Given the description of an element on the screen output the (x, y) to click on. 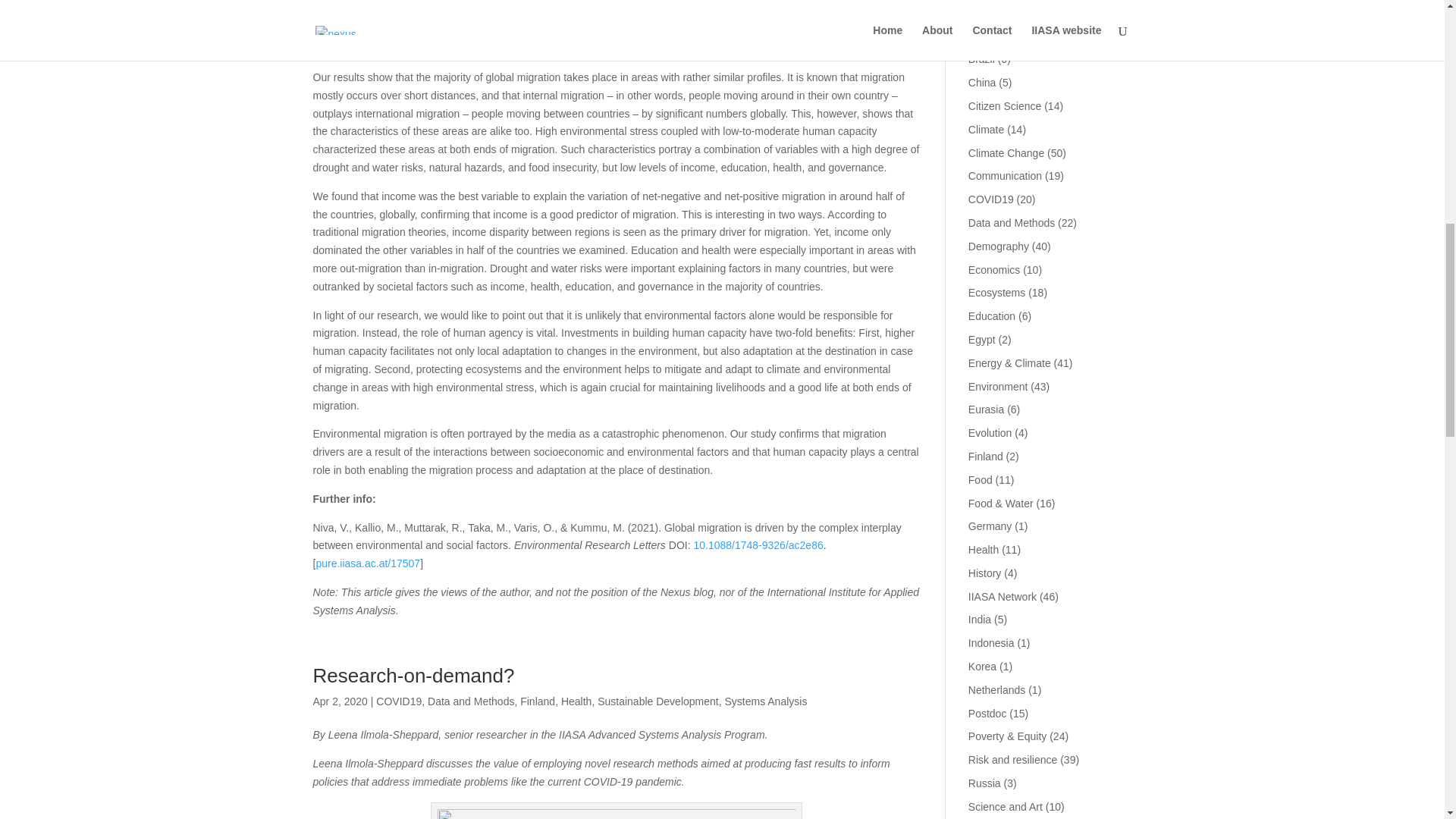
Brazil (981, 59)
Data and Methods (470, 701)
COVID19 (398, 701)
Finland (536, 701)
Austria (984, 12)
Biodiversity (995, 36)
China (981, 82)
Sustainable Development (657, 701)
Systems Analysis (764, 701)
Research-on-demand? (413, 675)
